Given the description of an element on the screen output the (x, y) to click on. 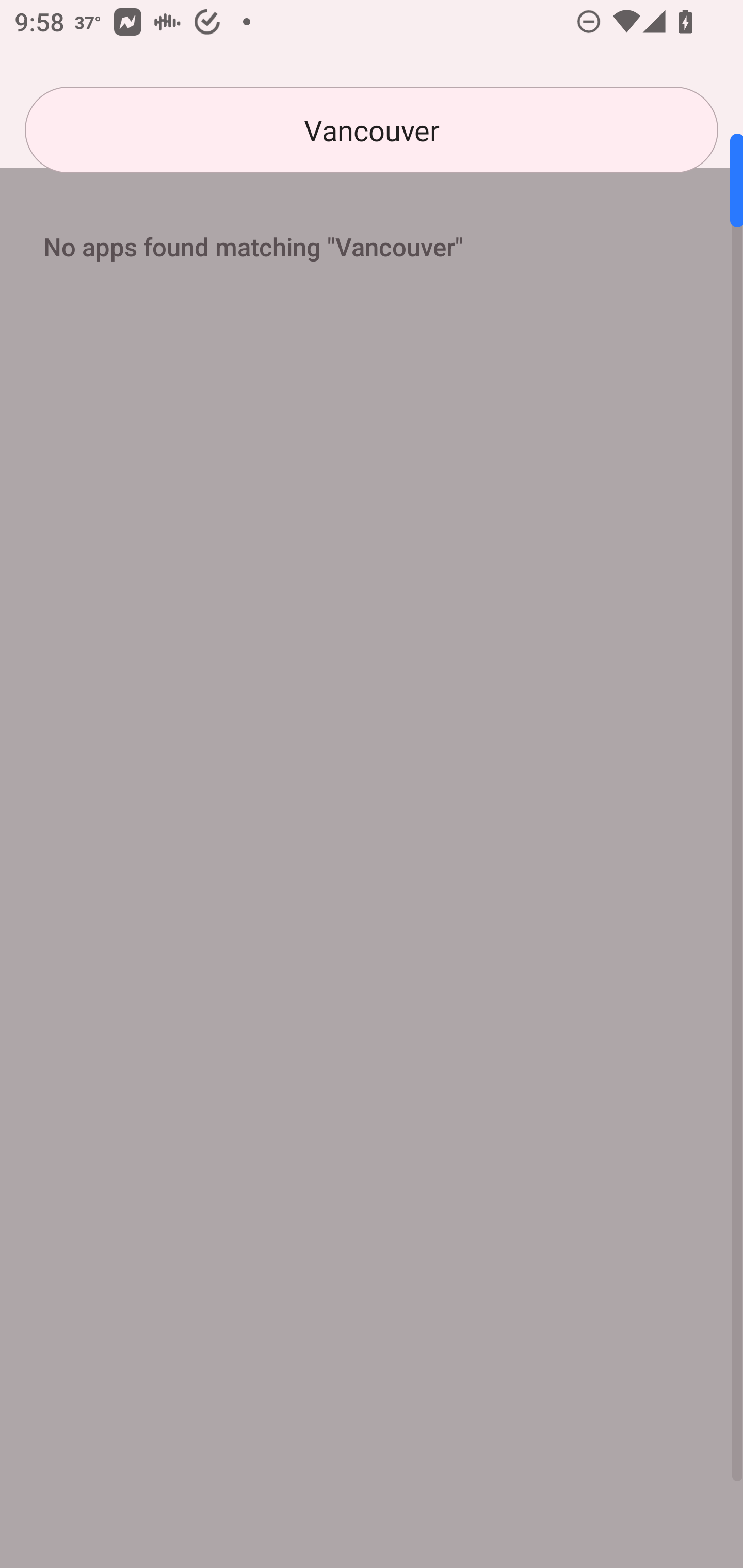
Vancouver (371, 130)
